Given the description of an element on the screen output the (x, y) to click on. 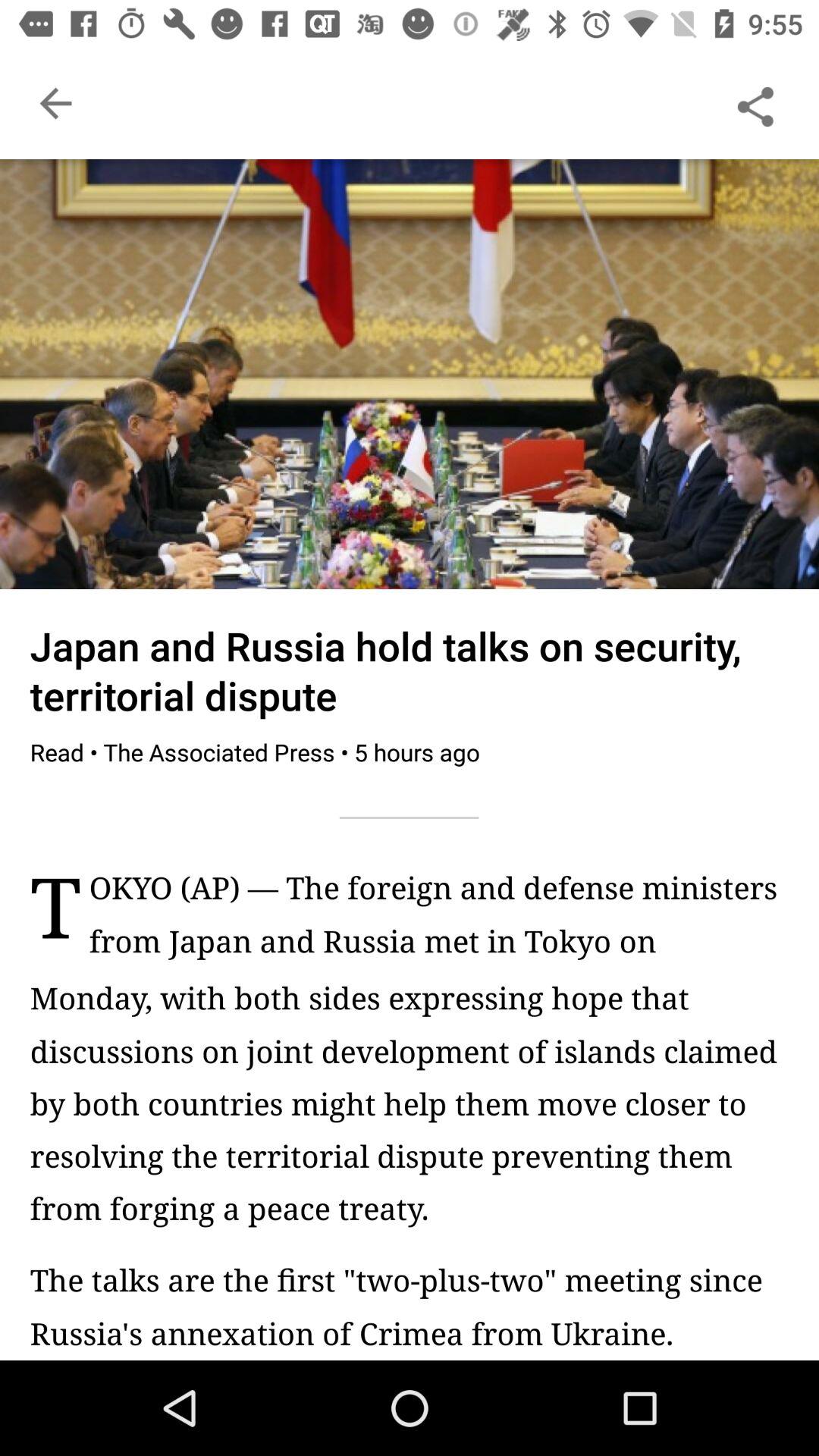
press the item above monday with both icon (438, 922)
